Given the description of an element on the screen output the (x, y) to click on. 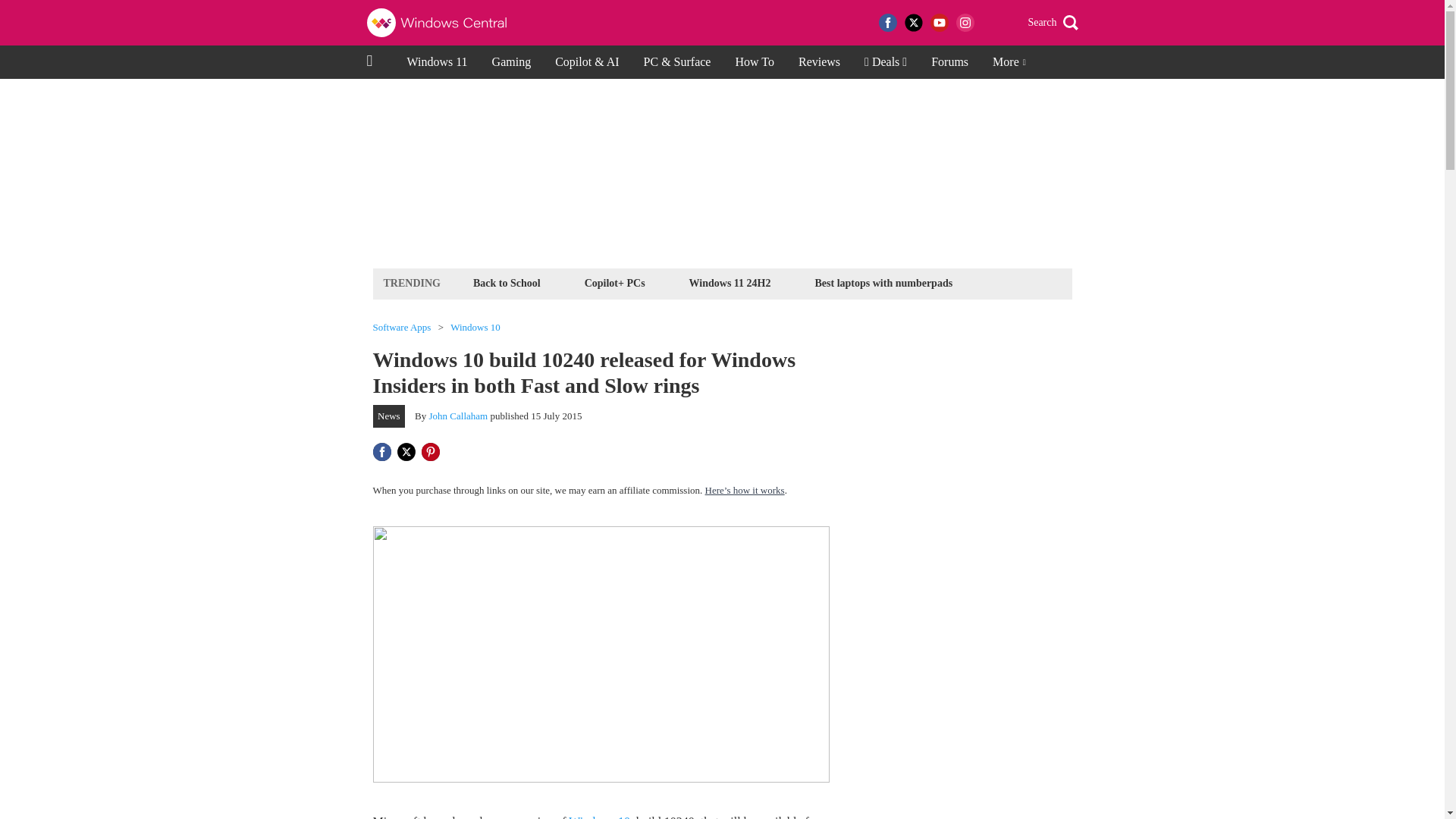
John Callaham (458, 415)
Software Apps (401, 327)
Forums (948, 61)
Windows 10 (474, 327)
RSS (990, 22)
Reviews (818, 61)
Gaming (511, 61)
Windows 11 (436, 61)
News (389, 415)
Back to School (506, 282)
